Given the description of an element on the screen output the (x, y) to click on. 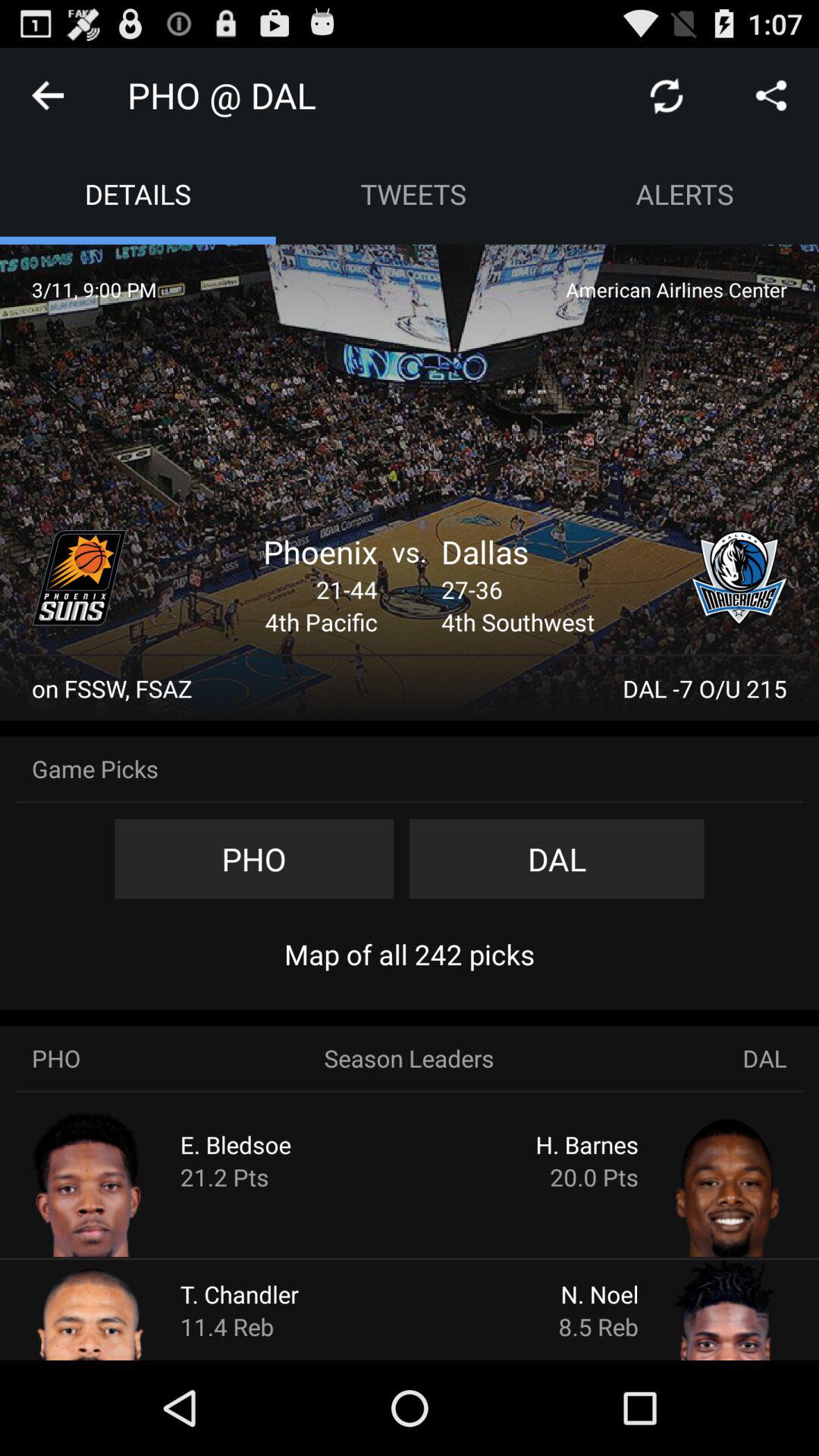
view team (79, 577)
